Given the description of an element on the screen output the (x, y) to click on. 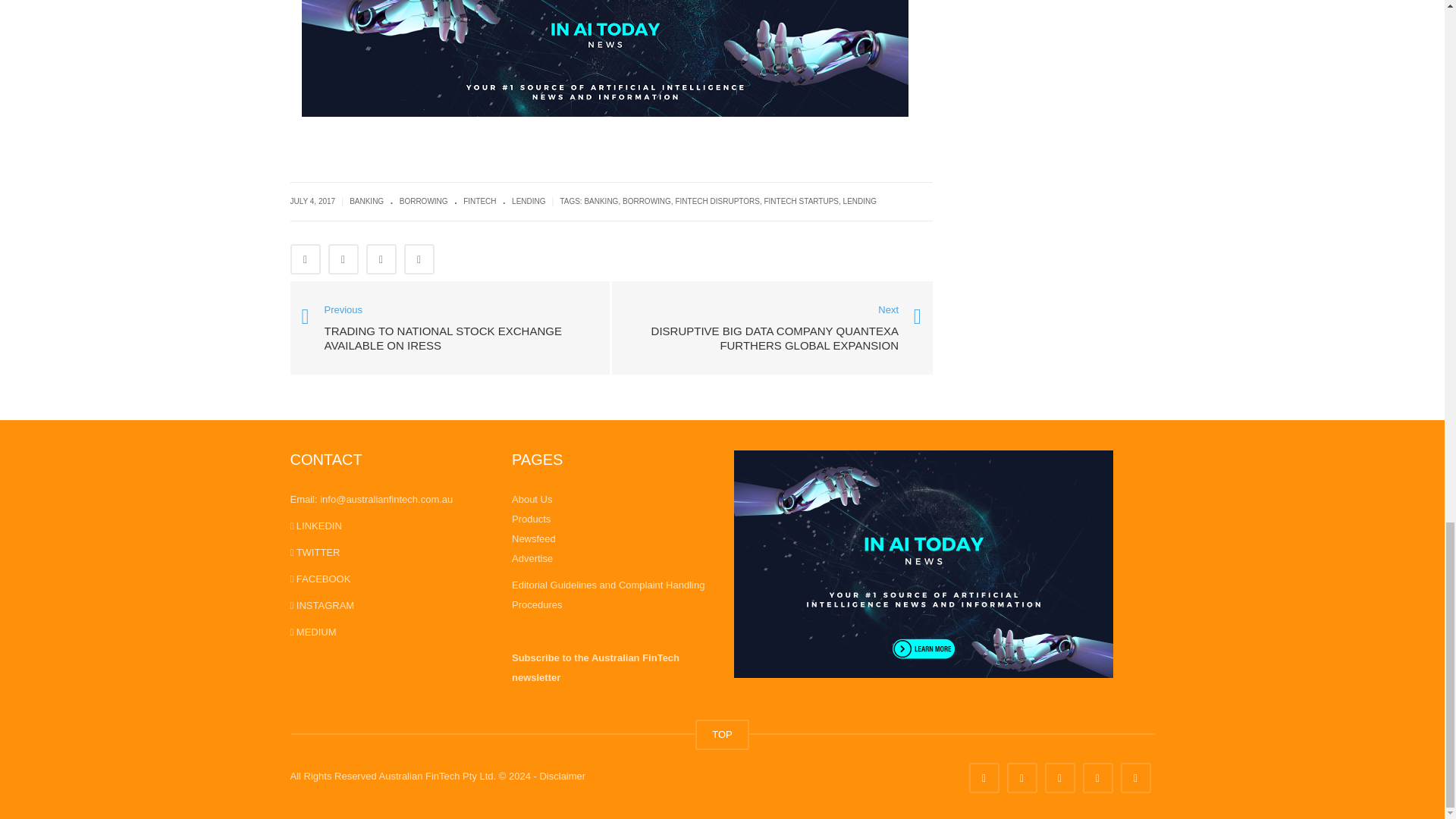
Sign up! (866, 538)
Sign up! (866, 538)
